Given the description of an element on the screen output the (x, y) to click on. 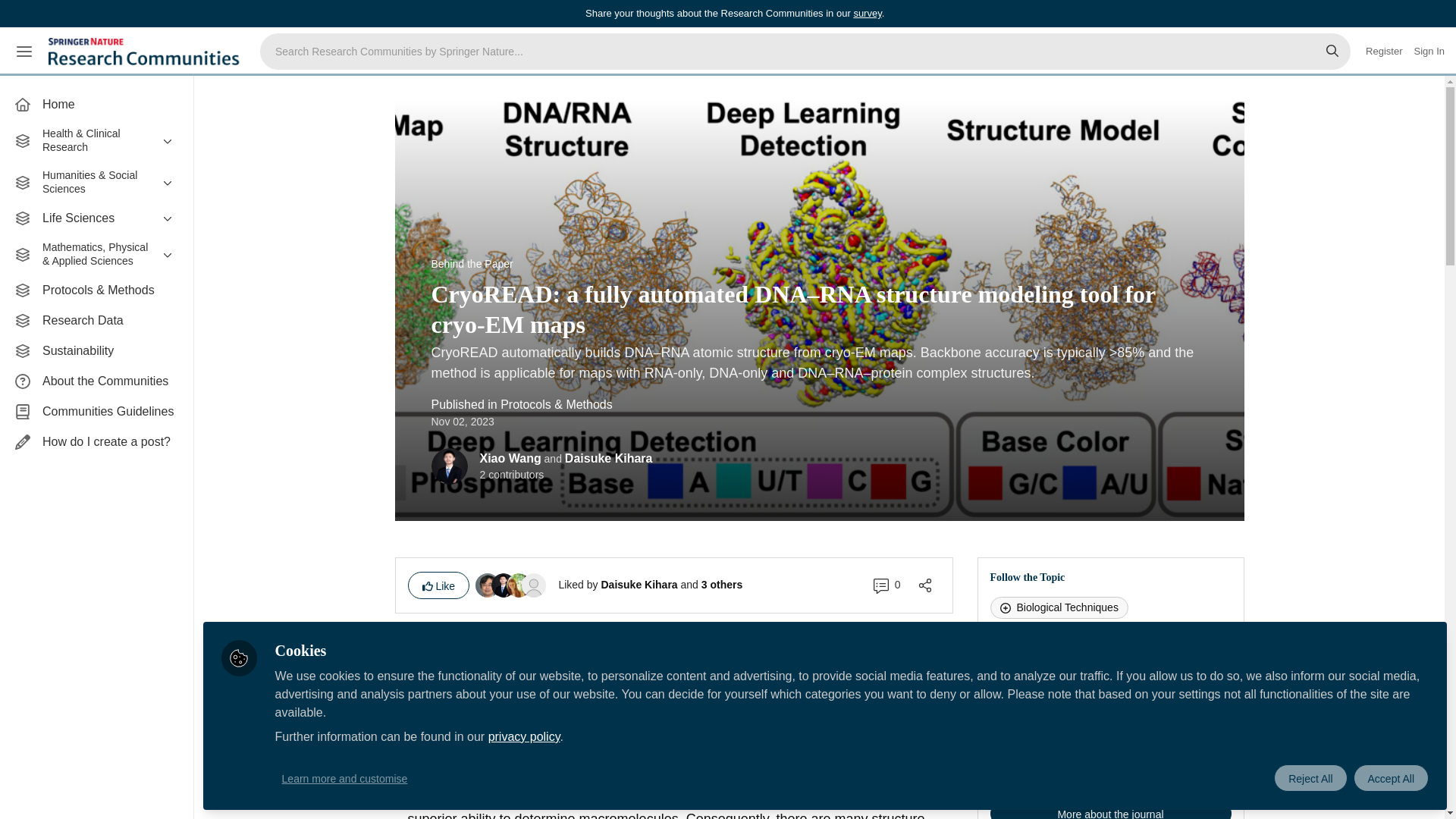
Life Sciences (96, 217)
Search (1332, 51)
Home (96, 103)
Home (96, 103)
Research Communities by Springer Nature (146, 51)
Life Sciences (96, 217)
Menu (24, 51)
survey (866, 12)
